Given the description of an element on the screen output the (x, y) to click on. 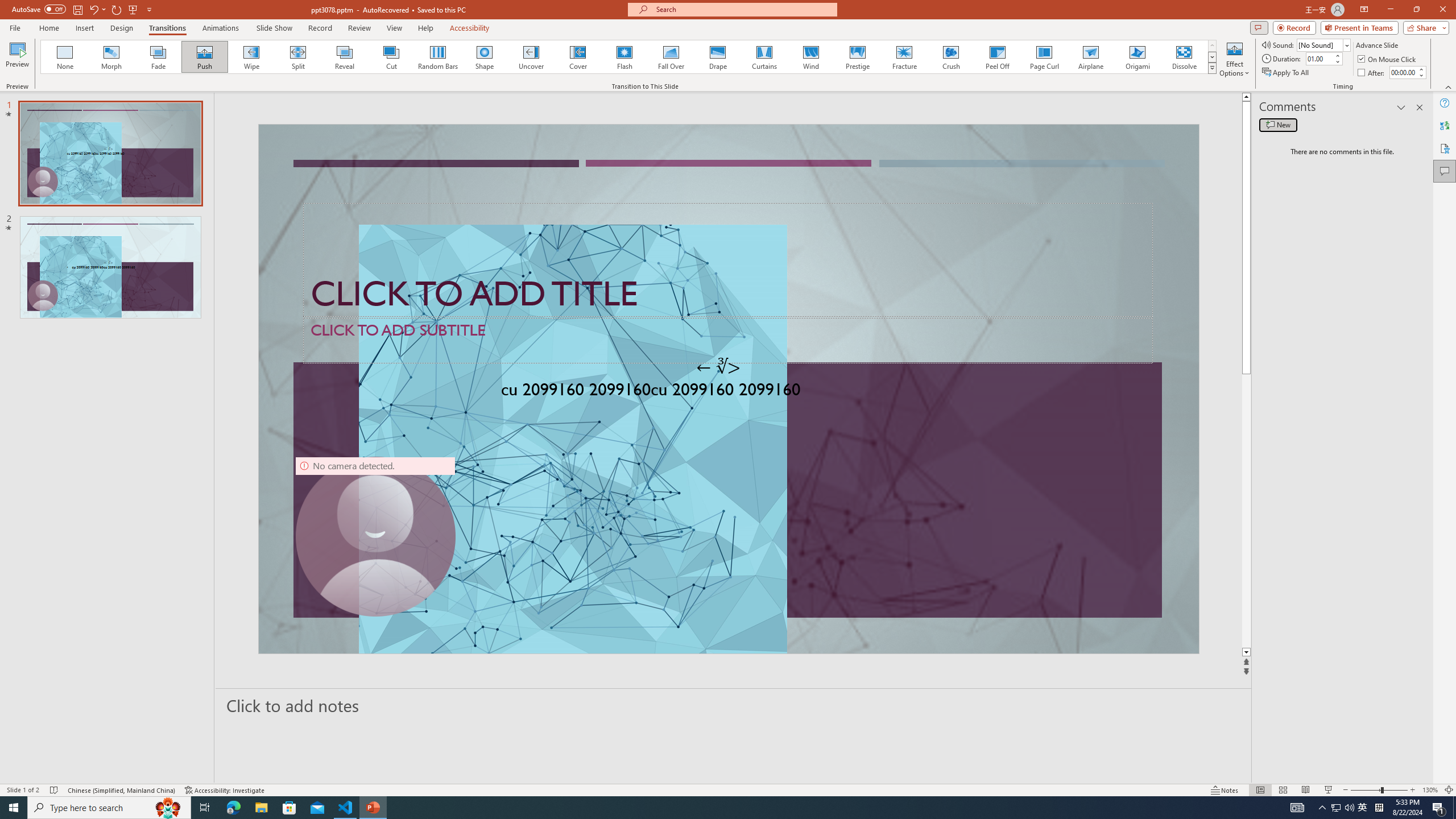
On Mouse Click (1387, 58)
Page Curl (1043, 56)
